Given the description of an element on the screen output the (x, y) to click on. 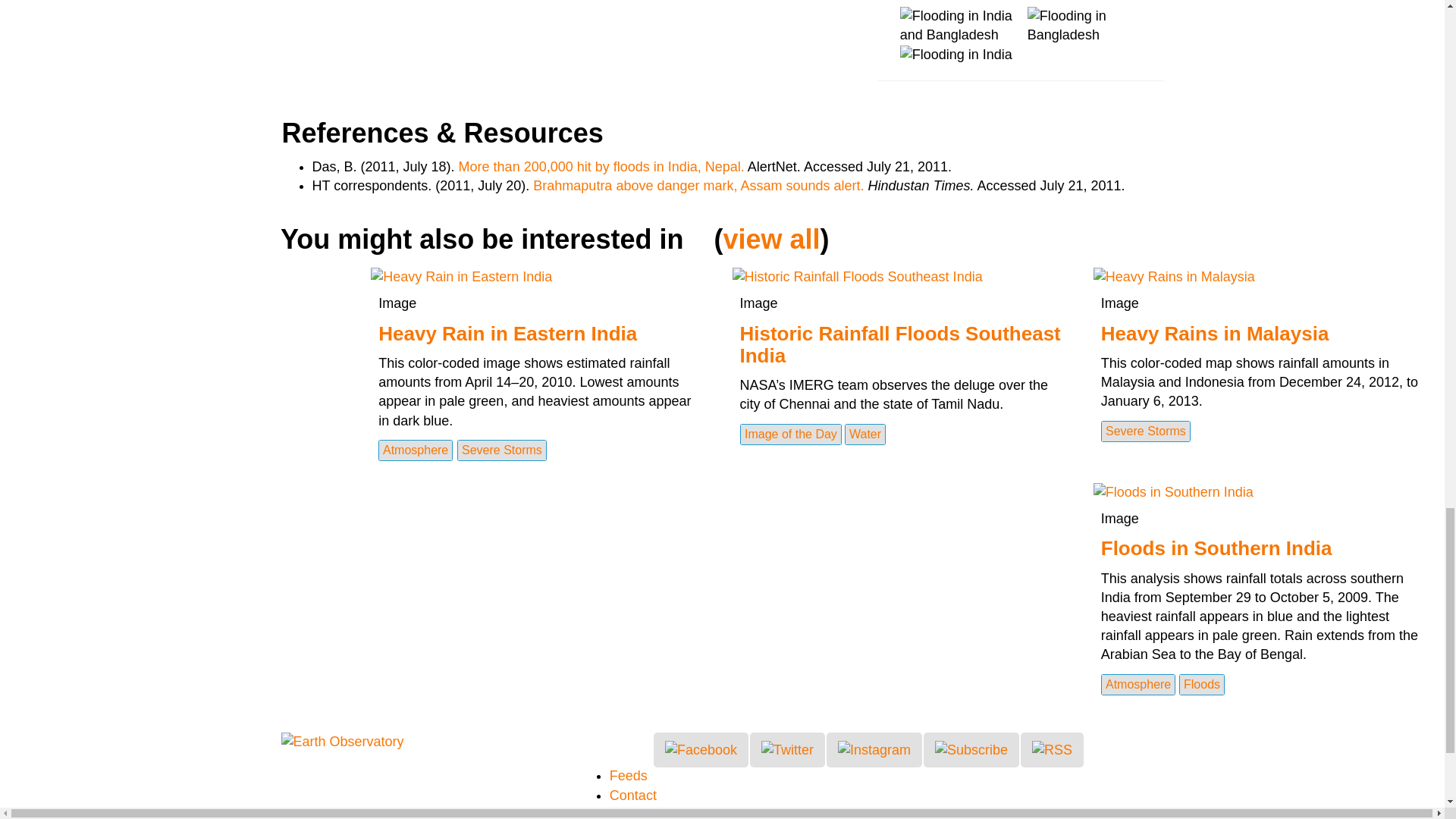
Earth Observatory (342, 741)
Twitter (787, 749)
Facebook (700, 749)
Subscribe (971, 749)
RSS (1051, 749)
Instagram (874, 749)
